Given the description of an element on the screen output the (x, y) to click on. 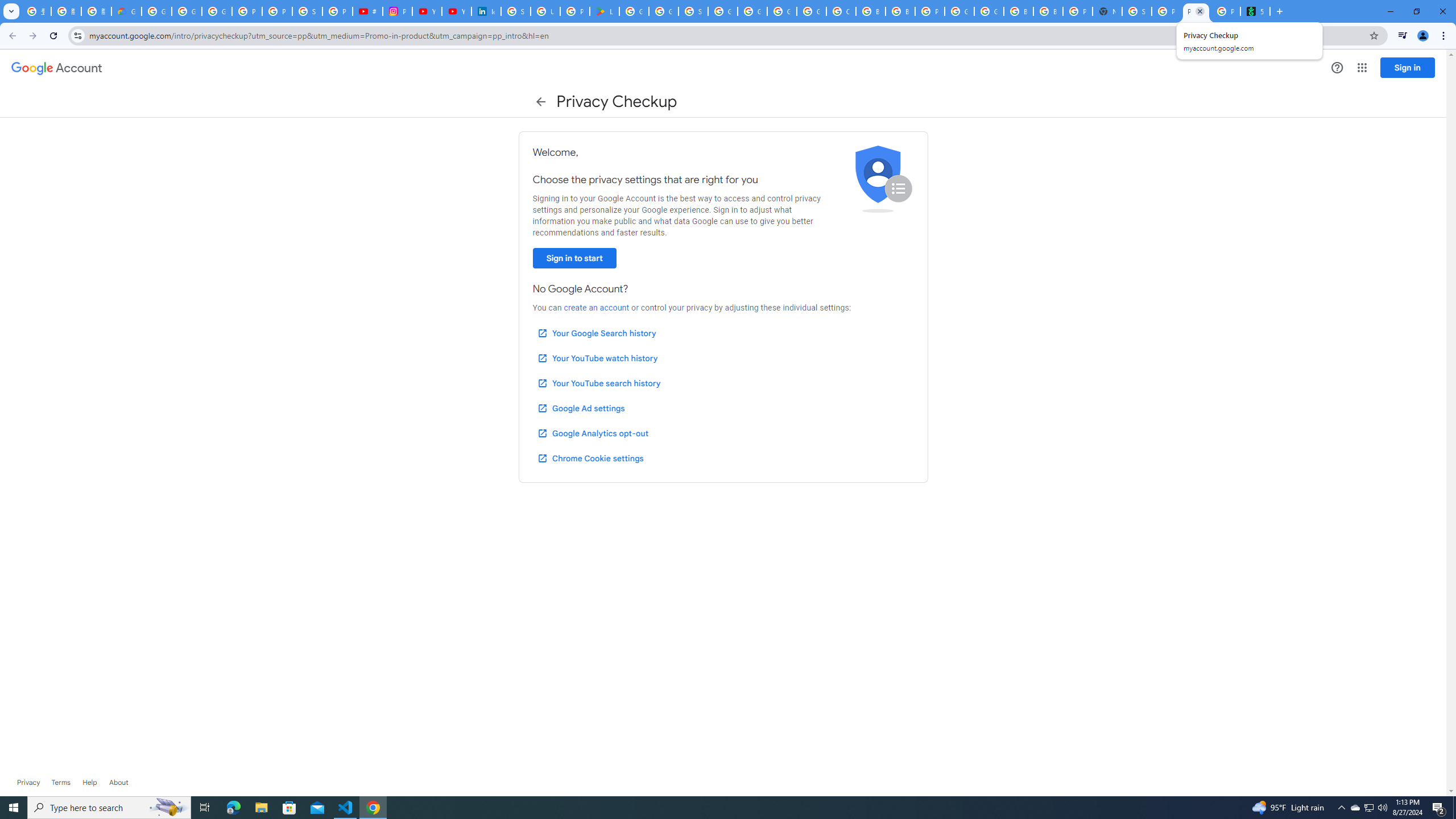
Help (1336, 67)
Google Cloud Platform (781, 11)
Your YouTube search history (598, 383)
Learn more about Google Account (118, 782)
Chrome Cookie settings (589, 457)
Browse Chrome as a guest - Computer - Google Chrome Help (1018, 11)
create an account (595, 307)
Sign in (1407, 67)
Terms (61, 782)
